Given the description of an element on the screen output the (x, y) to click on. 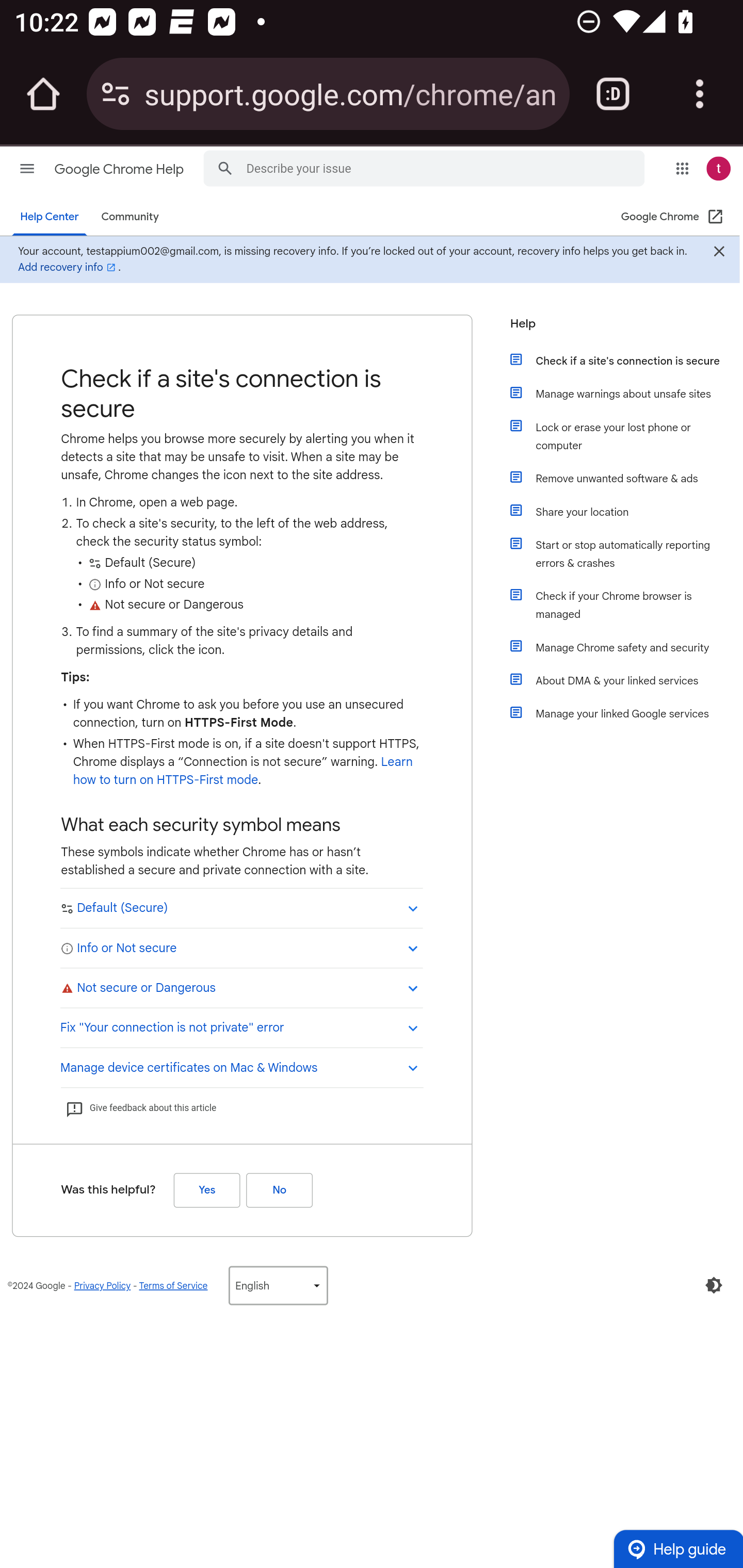
Open the home page (43, 93)
Connection is secure (115, 93)
Switch or close tabs (612, 93)
Customize and control Google Chrome (699, 93)
Main menu (27, 168)
Google Chrome Help (120, 169)
Search Help Center (224, 167)
Google apps (681, 168)
Help Center (48, 217)
Community (129, 217)
Google Chrome (Open in a new window) Google Chrome (672, 217)
Close (718, 252)
Add recovery info (67, 267)
Help Help Help (618, 328)
Check if a site's connection is secure (626, 360)
Manage warnings about unsafe sites (626, 393)
Lock or erase your lost phone or computer (626, 436)
Remove unwanted software & ads (626, 477)
Share your location (626, 511)
Check if your Chrome browser is managed (626, 604)
Manage Chrome safety and security (626, 647)
About DMA & your linked services (626, 680)
Manage your linked Google services (626, 713)
Learn how to turn on HTTPS-First mode (242, 770)
Default (Secure) Default (Secure) (240, 907)
View site information Info or Not secure (240, 946)
Dangerous Not secure or Dangerous (240, 987)
Fix "Your connection is not private" error (240, 1026)
Manage device certificates on Mac & Windows (240, 1065)
Give feedback about this article (140, 1107)
Yes (Was this helpful?) (206, 1189)
No (Was this helpful?) (278, 1189)
Language (English‎) (277, 1284)
Enable Dark Mode (713, 1284)
Privacy Policy (101, 1285)
Terms of Service (173, 1285)
Help guide (677, 1548)
